Given the description of an element on the screen output the (x, y) to click on. 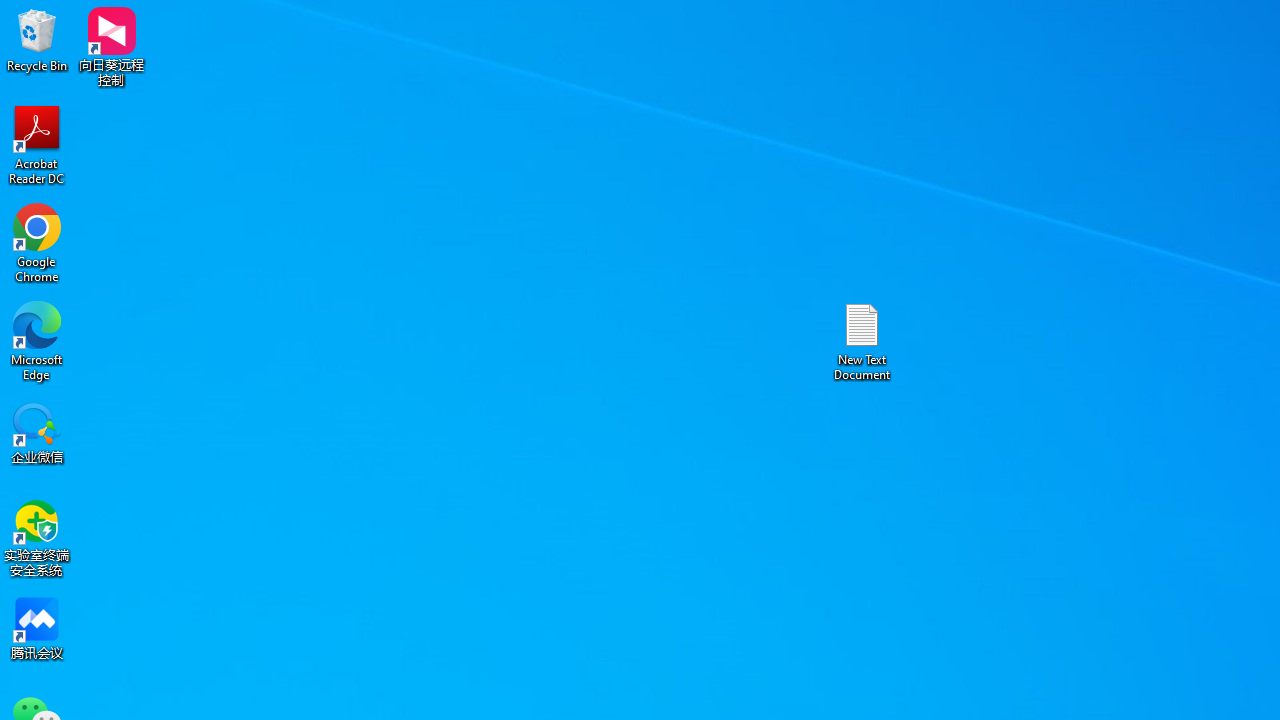
SmartArt... (525, 102)
Slide Number (1095, 102)
